Given the description of an element on the screen output the (x, y) to click on. 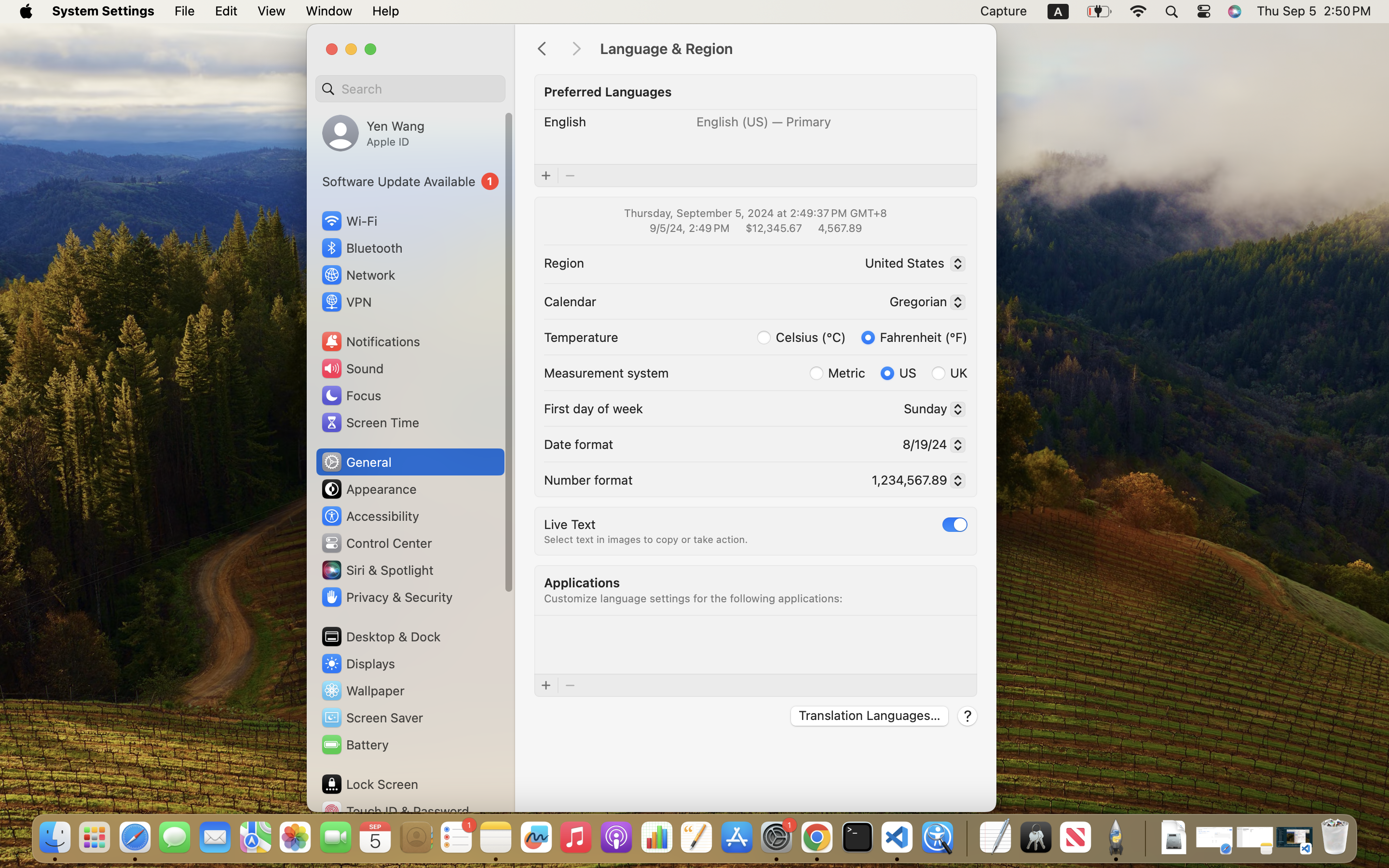
9/5/24, 2:49 PM Element type: AXStaticText (689, 227)
United States Element type: AXPopUpButton (912, 264)
$12,345.67 Element type: AXStaticText (772, 227)
Language & Region Element type: AXStaticText (788, 49)
Desktop & Dock Element type: AXStaticText (380, 636)
